Given the description of an element on the screen output the (x, y) to click on. 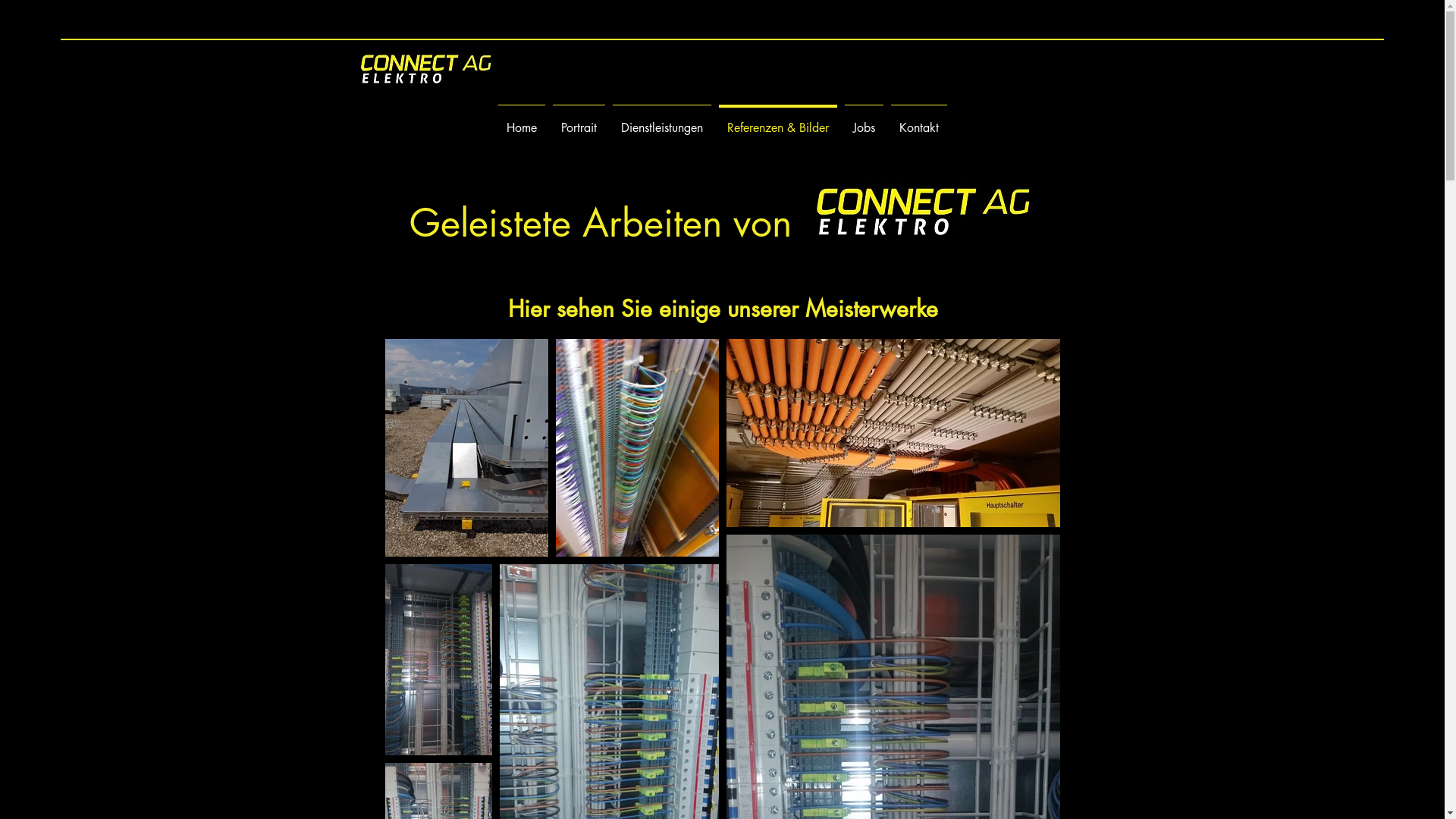
Portrait Element type: text (578, 120)
Dienstleistungen Element type: text (661, 120)
Referenzen & Bilder Element type: text (777, 120)
Kontakt Element type: text (918, 120)
Home Element type: text (521, 120)
Jobs Element type: text (863, 120)
